Given the description of an element on the screen output the (x, y) to click on. 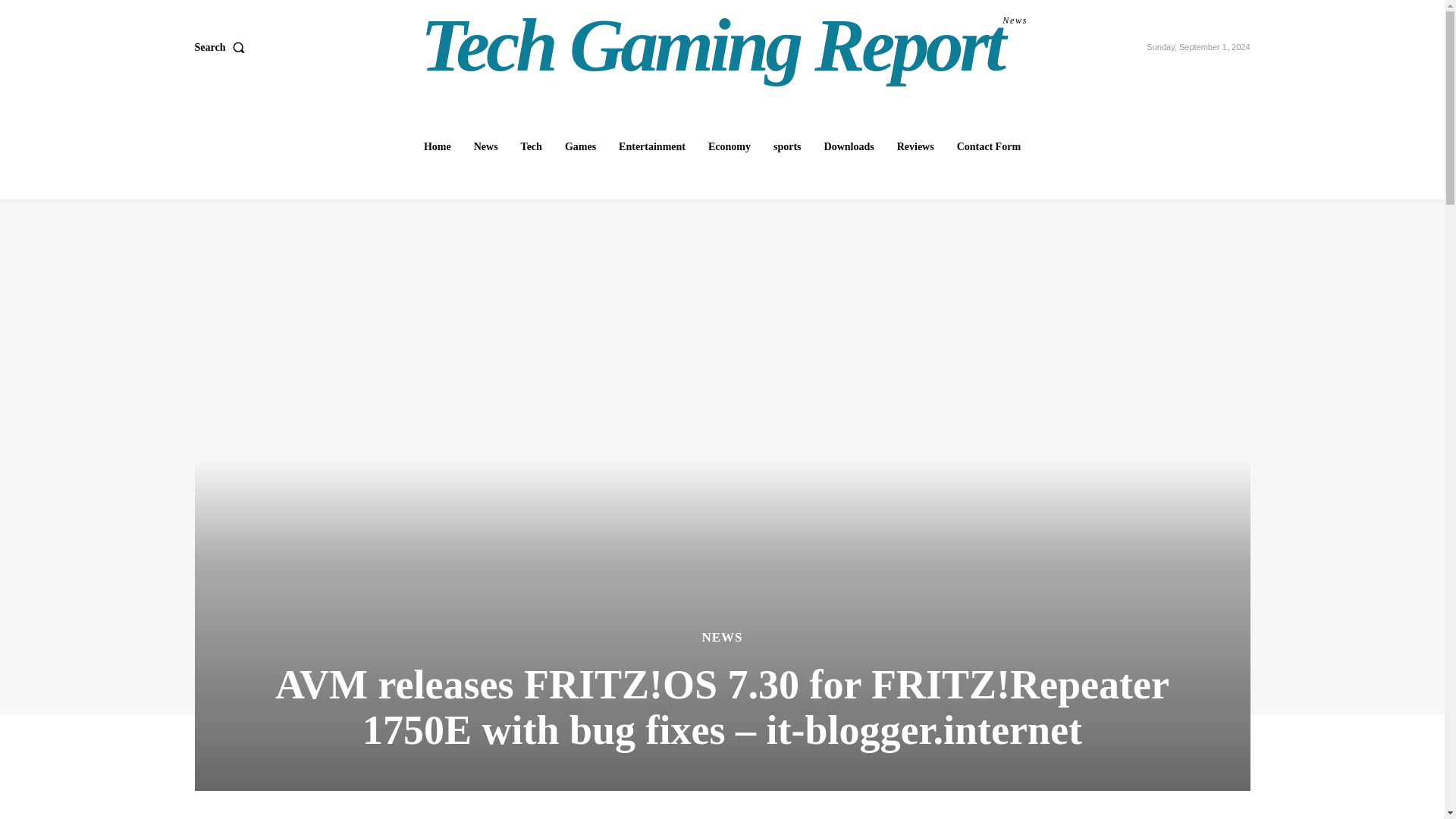
Downloads (724, 45)
News (849, 146)
Tech (485, 146)
Reviews (531, 146)
Economy (915, 146)
Search (729, 146)
Contact Form (221, 47)
Home (988, 146)
Entertainment (437, 146)
